Given the description of an element on the screen output the (x, y) to click on. 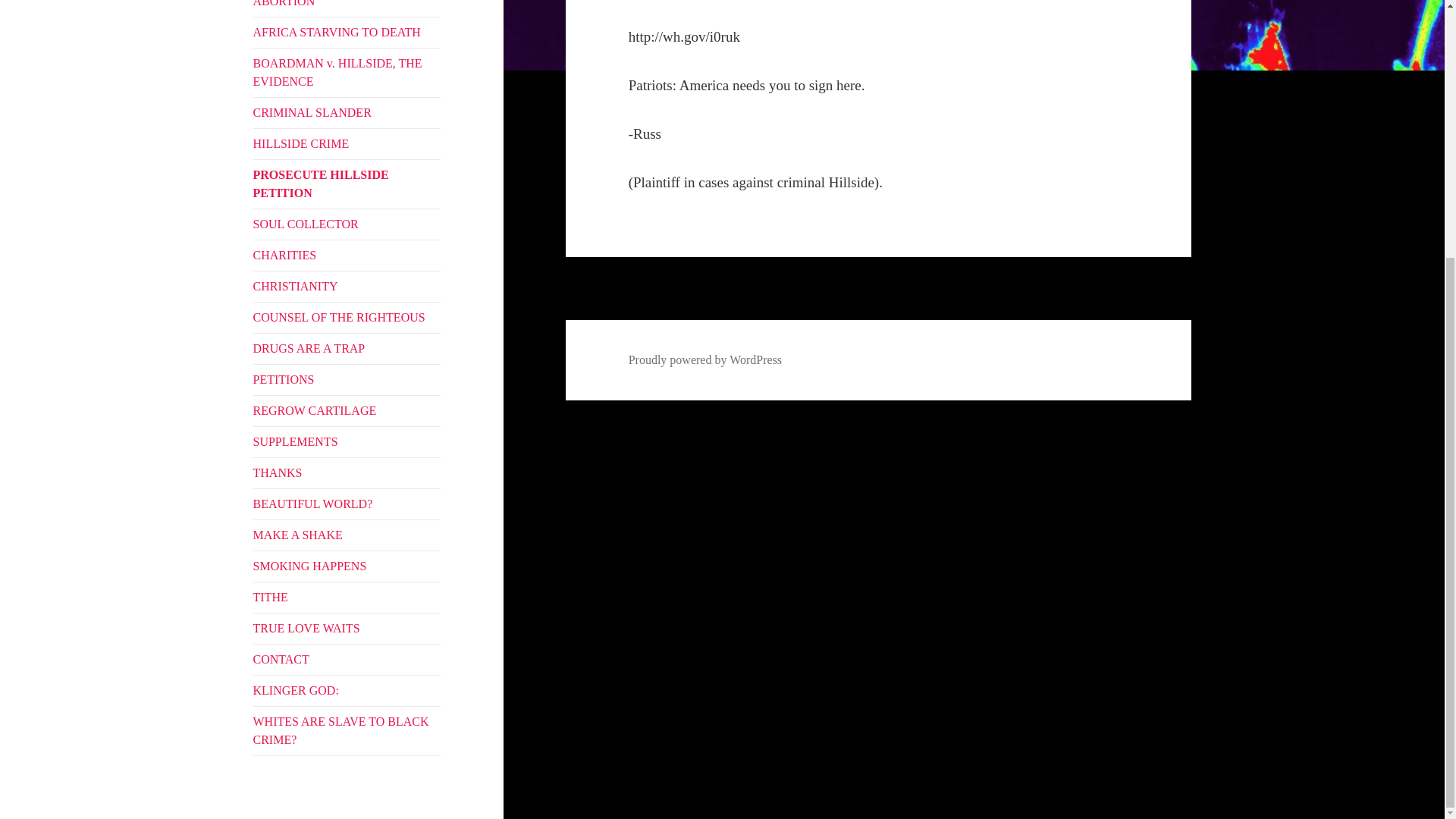
BOARDMAN v. HILLSIDE, THE EVIDENCE (347, 72)
ABORTION (347, 8)
DRUGS ARE A TRAP (347, 348)
SUPPLEMENTS (347, 441)
PROSECUTE HILLSIDE PETITION (347, 183)
THANKS (347, 472)
COUNSEL OF THE RIGHTEOUS (347, 317)
SMOKING HAPPENS (347, 566)
AFRICA STARVING TO DEATH (347, 32)
CHARITIES (347, 255)
